Given the description of an element on the screen output the (x, y) to click on. 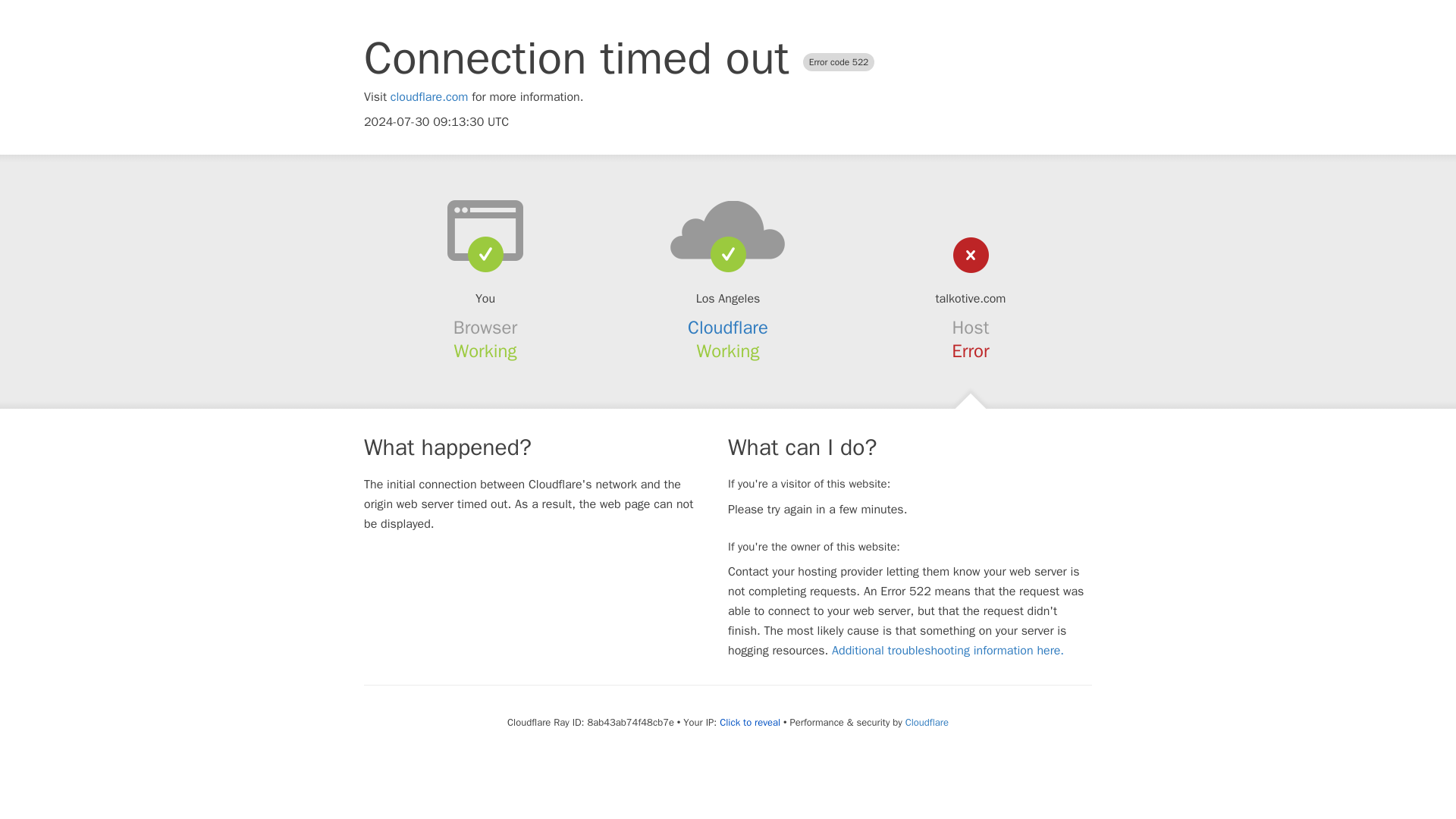
Click to reveal (749, 722)
Cloudflare (727, 327)
Additional troubleshooting information here. (947, 650)
cloudflare.com (429, 96)
Cloudflare (927, 721)
